Given the description of an element on the screen output the (x, y) to click on. 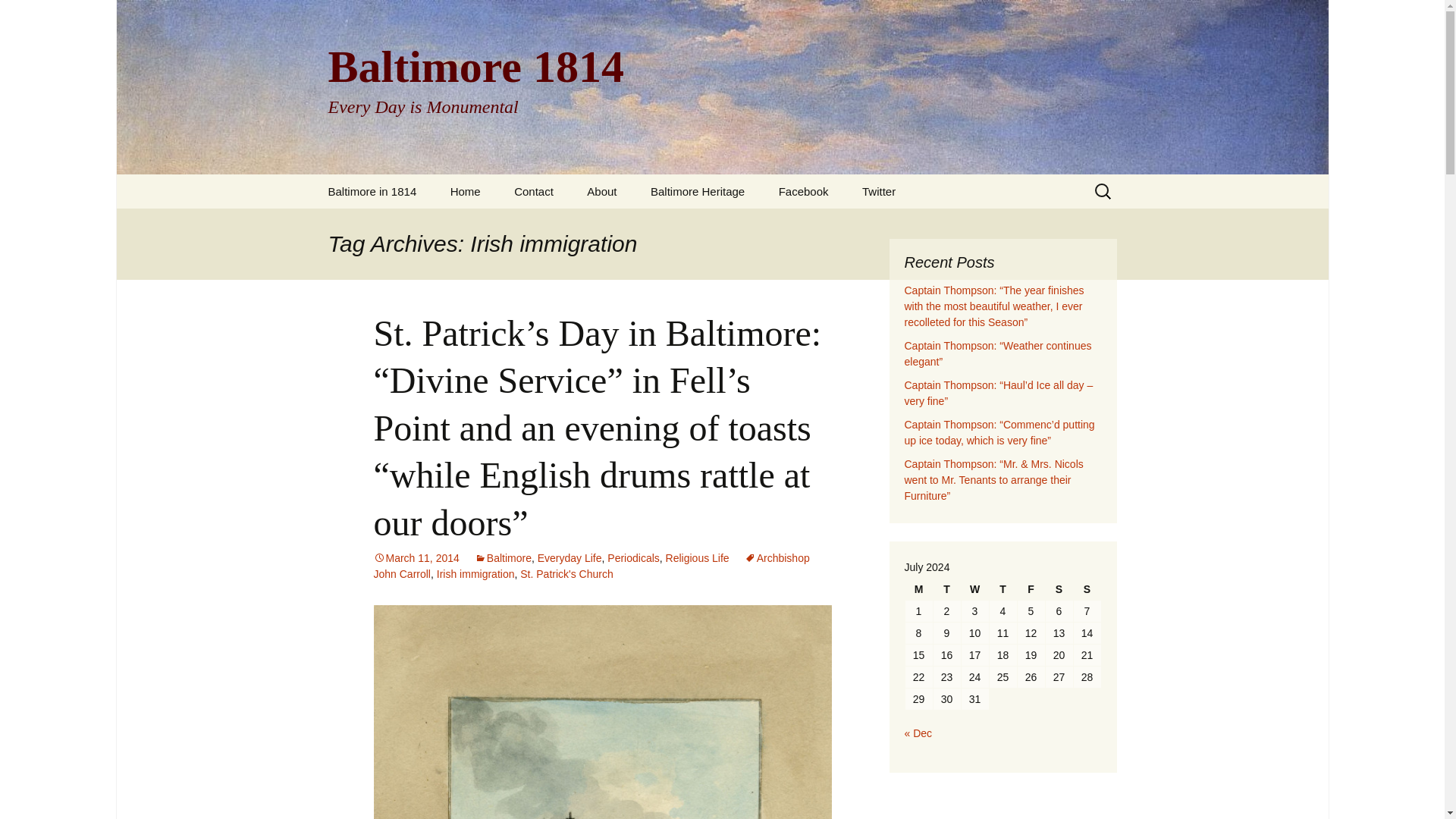
Monday (919, 588)
About (601, 191)
Sunday (1087, 588)
Saturday (1058, 588)
Facebook (803, 191)
Irish immigration (34, 15)
Home (475, 573)
Skip to content (465, 191)
Archbishop John Carroll (565, 573)
Wednesday (590, 565)
Skip to content (974, 588)
